Given the description of an element on the screen output the (x, y) to click on. 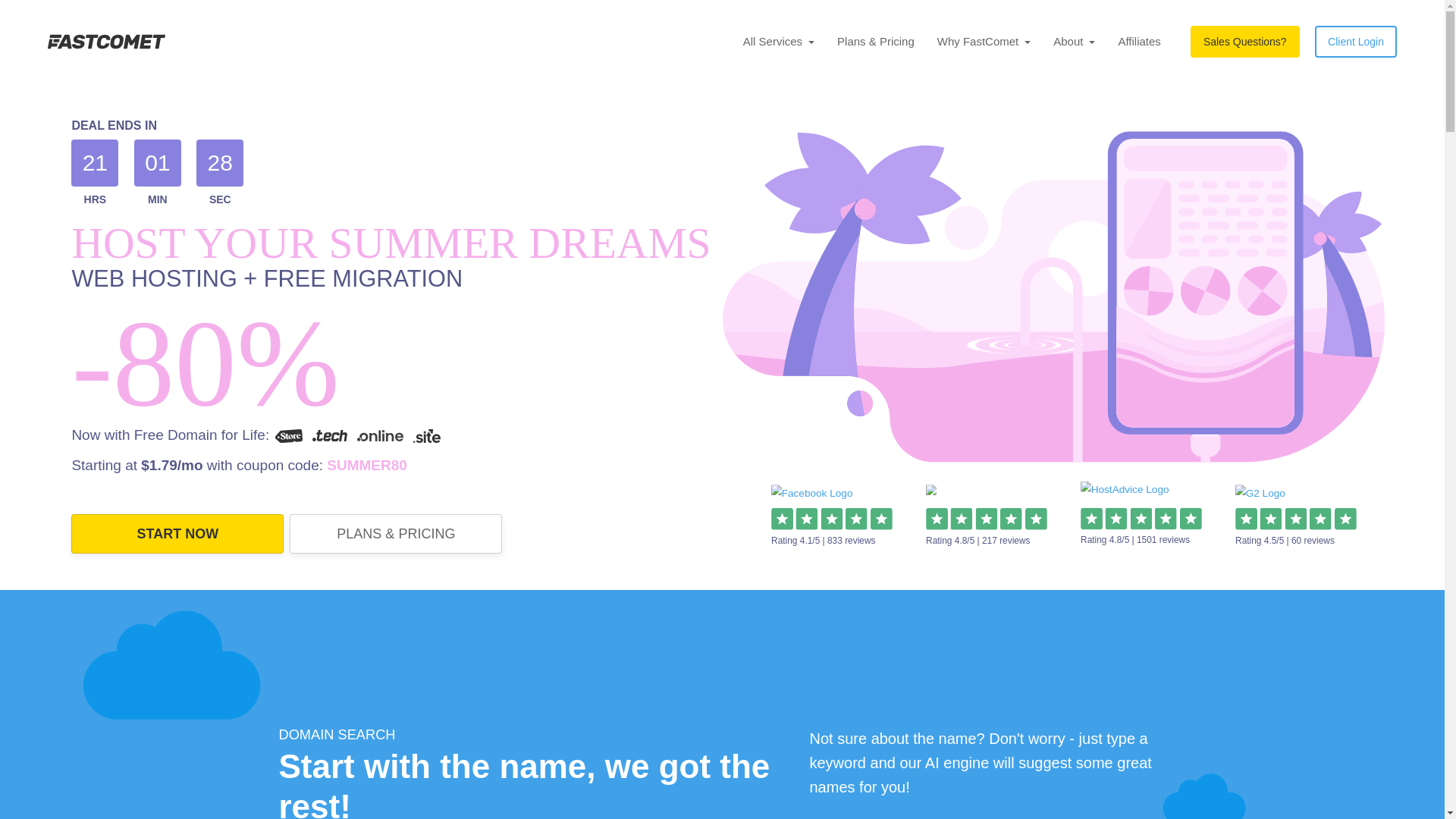
fastcomet-logo-white (106, 41)
About (1074, 41)
Affiliates (1139, 41)
Sales Questions? (1245, 41)
FastComet HostAdvice reviews (1132, 494)
fastcomet-logo-white (106, 41)
All Services (778, 41)
FastComet G2 reviews (1264, 495)
FastComet HostAdvice reviews (818, 495)
Why FastComet (984, 41)
